Given the description of an element on the screen output the (x, y) to click on. 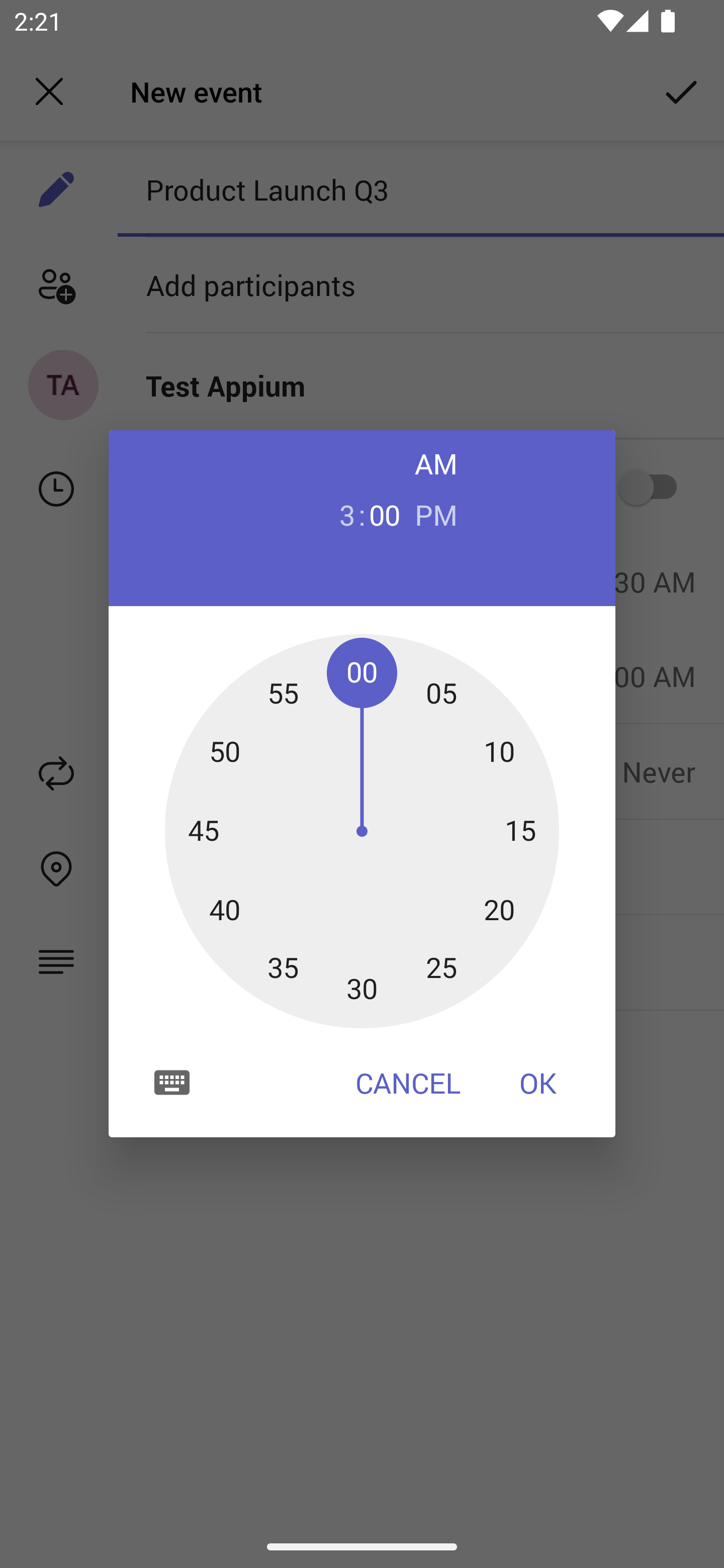
AM (435, 463)
PM (435, 514)
3 (338, 514)
00 (384, 514)
CANCEL (407, 1082)
OK (537, 1082)
Switch to text input mode for the time input. (171, 1081)
